Given the description of an element on the screen output the (x, y) to click on. 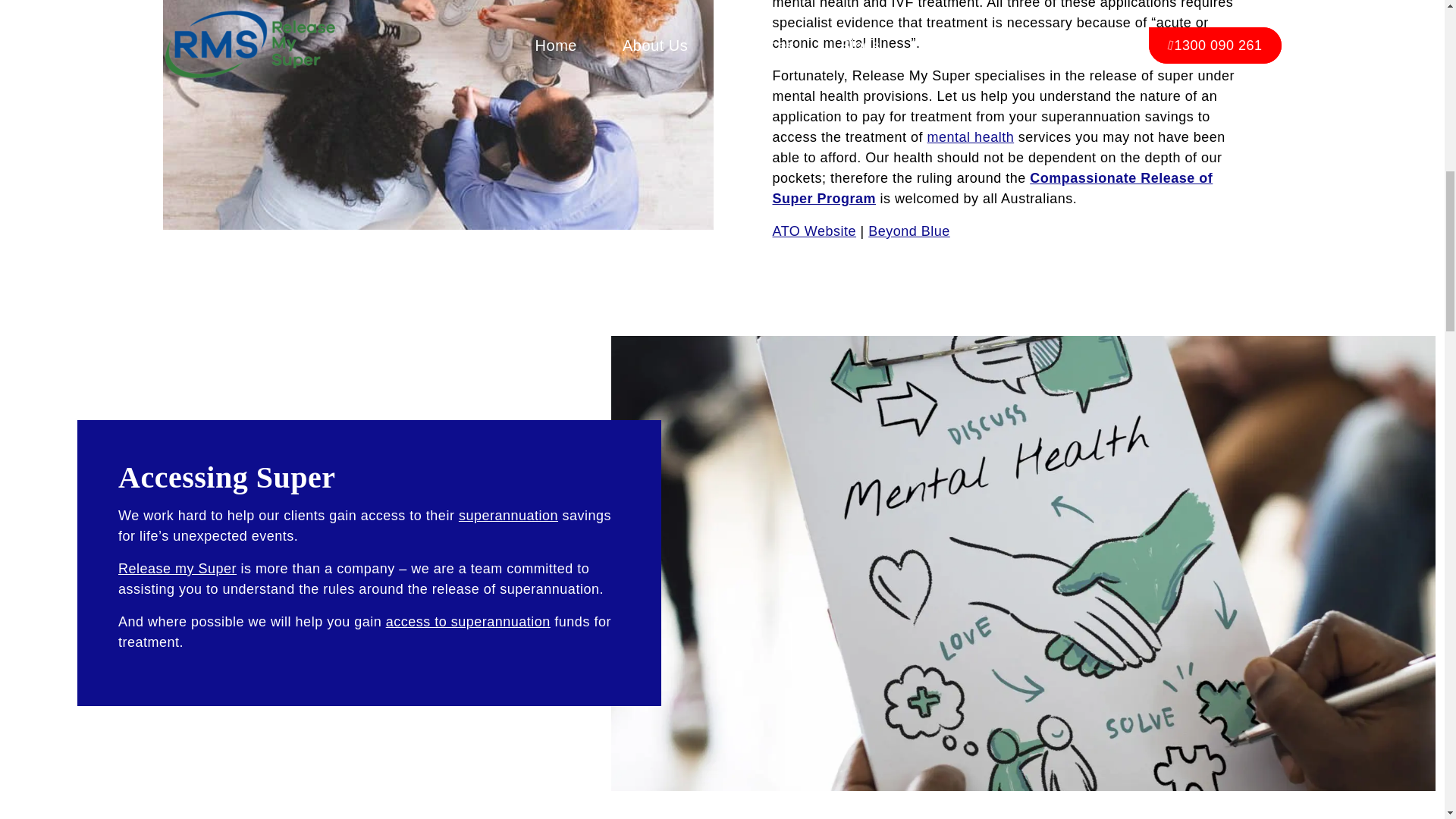
access to superannuation (467, 621)
superannuation (507, 515)
Compassionate Release of Super Program (991, 188)
Release my Super (176, 568)
mental health (970, 136)
Beyond Blue (908, 231)
ATO Website (813, 231)
